Given the description of an element on the screen output the (x, y) to click on. 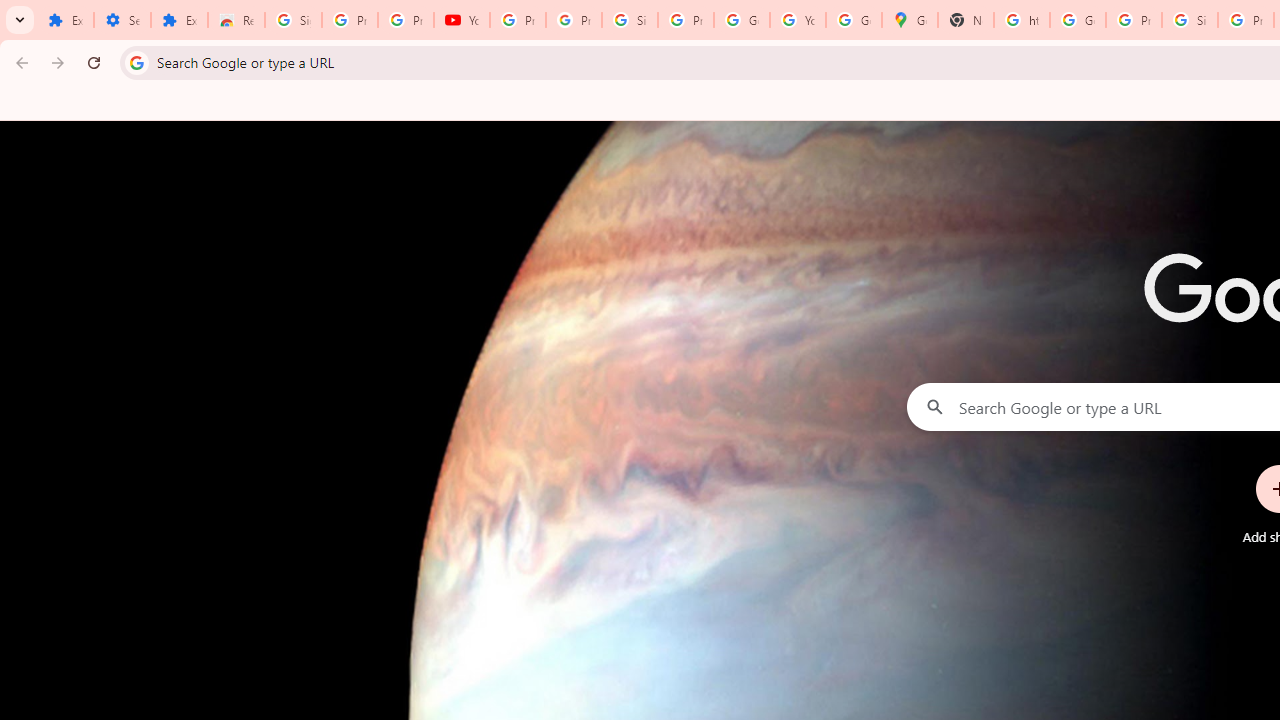
YouTube (797, 20)
Google Account (742, 20)
YouTube (461, 20)
New Tab (966, 20)
